Given the description of an element on the screen output the (x, y) to click on. 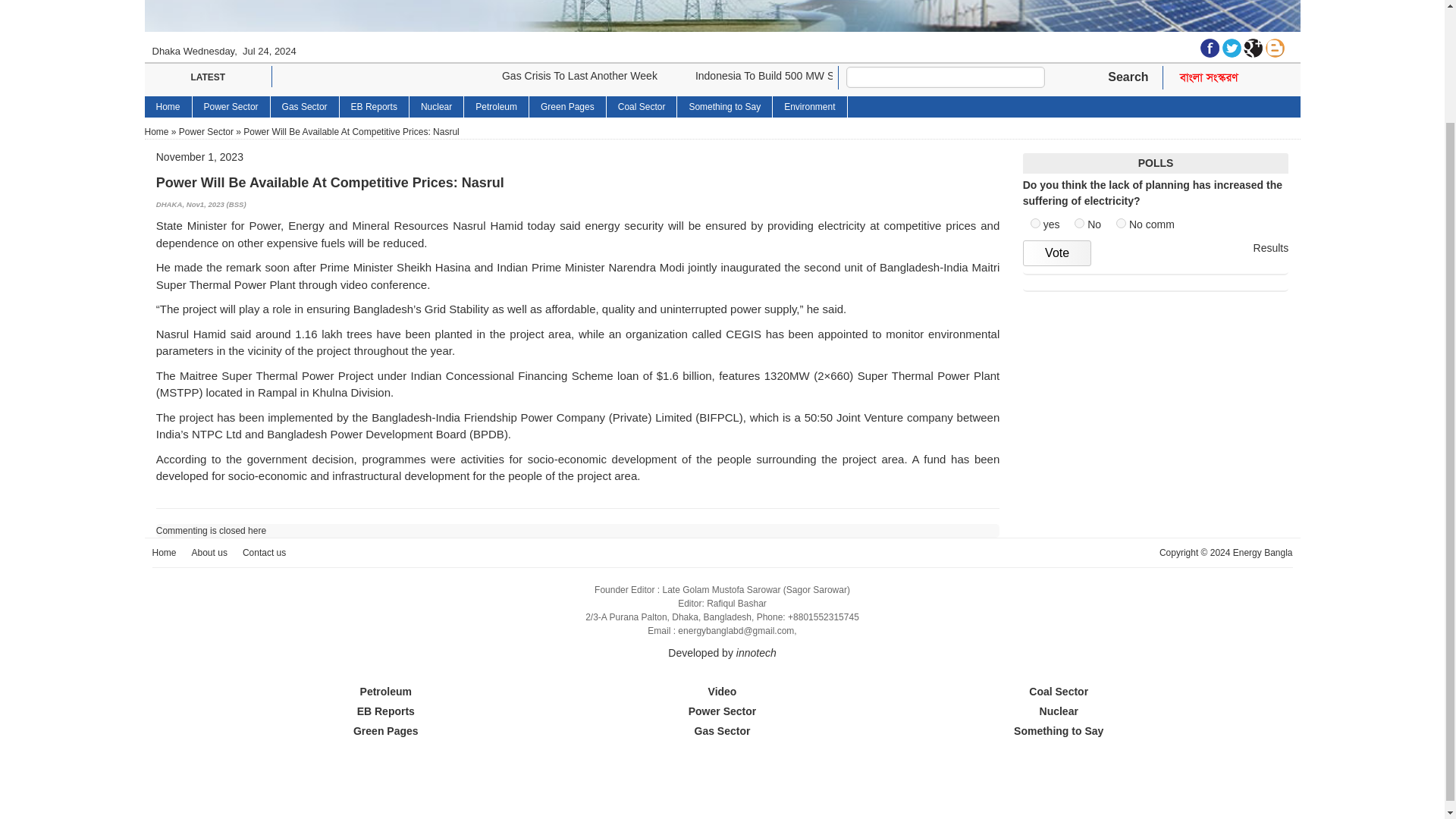
Home (168, 106)
Power Sector (231, 106)
Indonesia To Build 500 MW Solar Power Plant In Matarbari (833, 75)
Gas Sector (304, 106)
Results (1270, 248)
Nuclear (436, 106)
207 (1079, 223)
Gas Crisis To Last Another Week (580, 75)
Environment (810, 106)
Home (156, 131)
EB Reports (374, 106)
View Results Of This Poll (1270, 248)
   Vote    (1057, 253)
Energy Bangla (207, 48)
Coal Sector (642, 106)
